Given the description of an element on the screen output the (x, y) to click on. 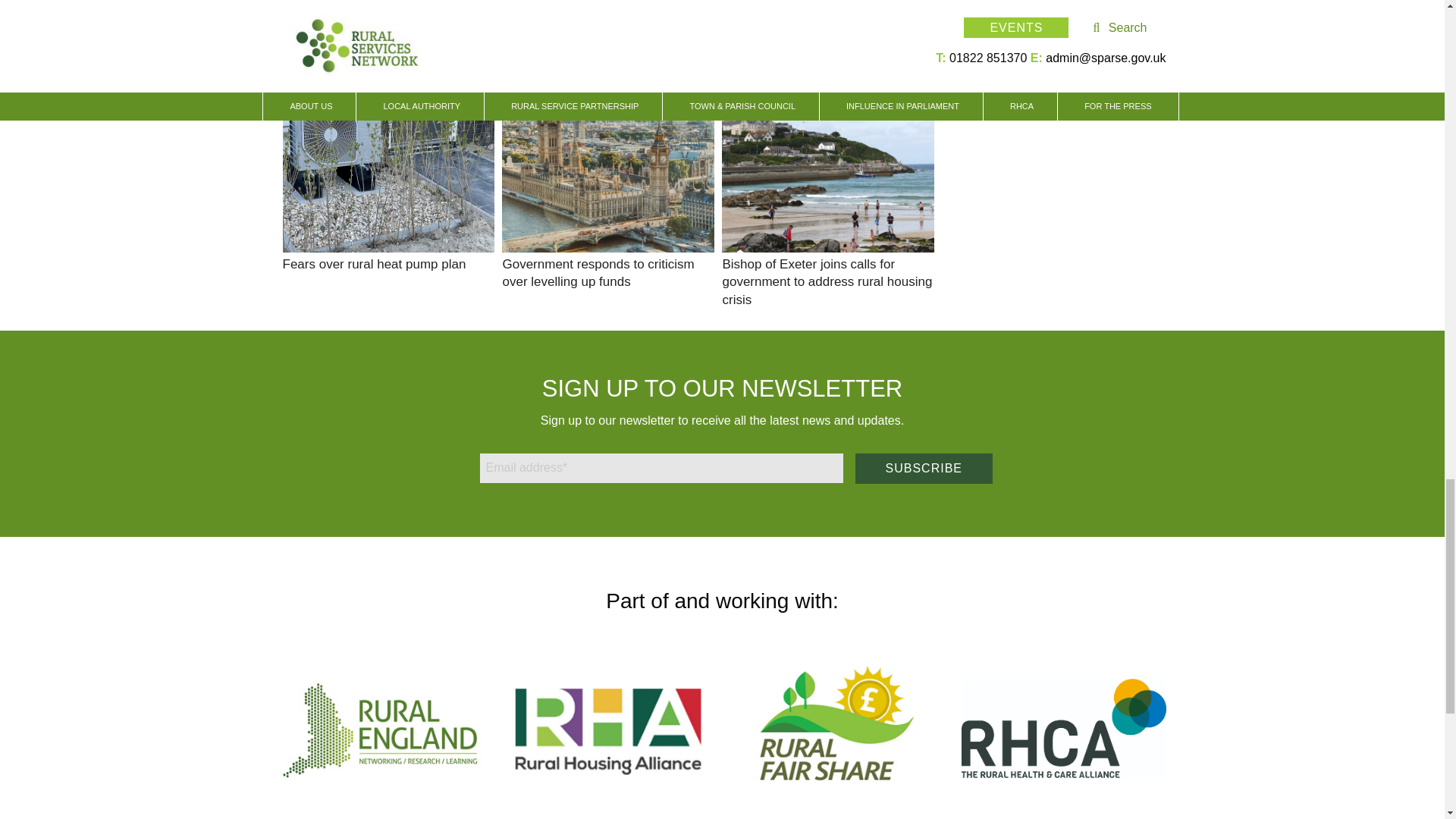
Figures show reduction in bus routes (827, 9)
Fears over rural heat pump plan (373, 264)
SUBSCRIBE (924, 468)
Conference Spotlight: Focus on Rural Transport (372, 18)
Broadcast 2040 campaign stresses importance of services (602, 18)
Fears over rural heat pump plan (388, 166)
Government responds to criticism over levelling up funds (608, 166)
